Given the description of an element on the screen output the (x, y) to click on. 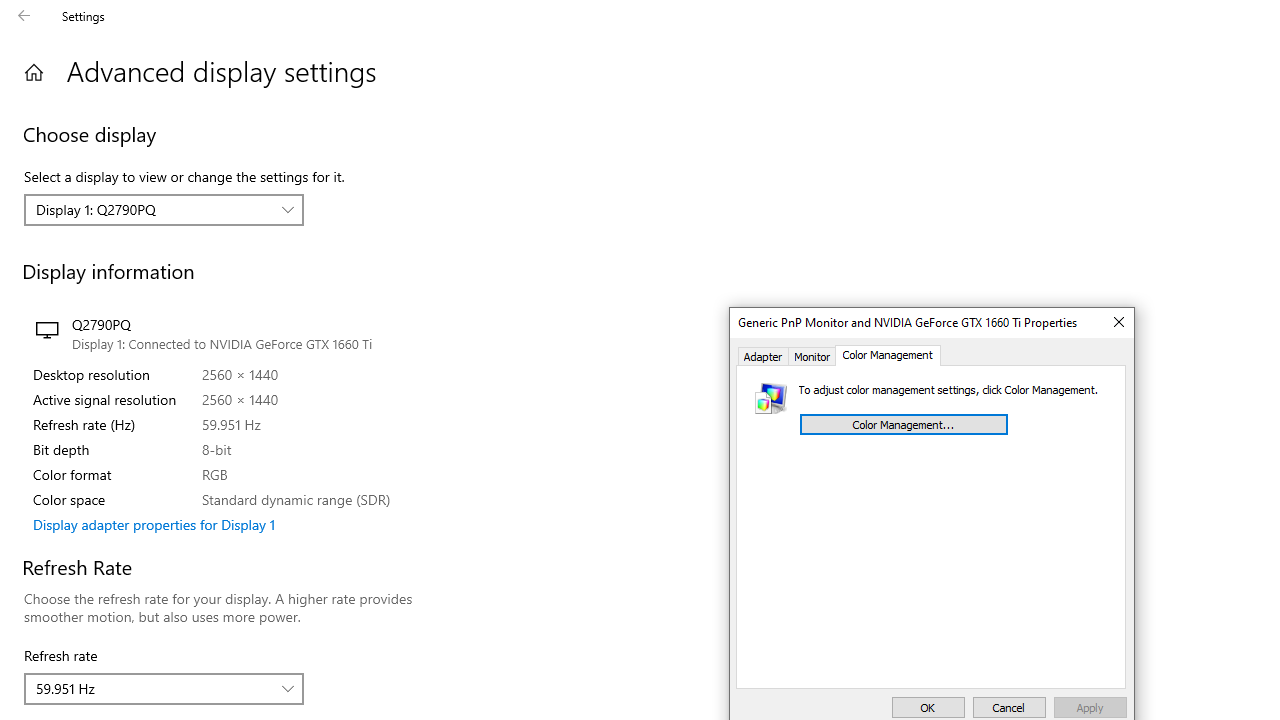
Adapter (763, 356)
Color Management (888, 356)
Apply (1090, 707)
Monitor (812, 356)
Cancel (1009, 707)
Color Management... (903, 424)
Close (1117, 322)
OK (928, 707)
